Given the description of an element on the screen output the (x, y) to click on. 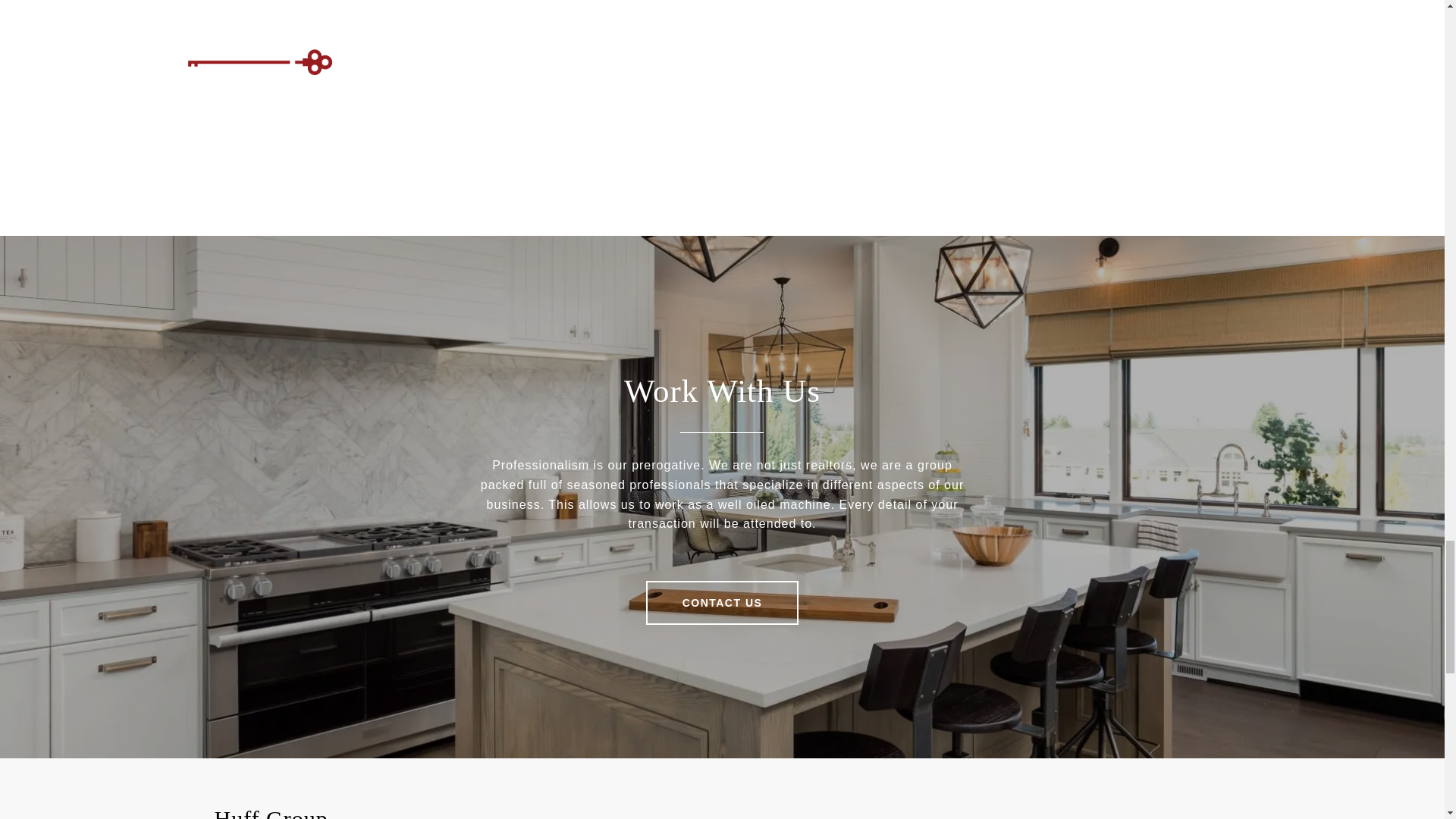
CONTACT US (722, 602)
